Given the description of an element on the screen output the (x, y) to click on. 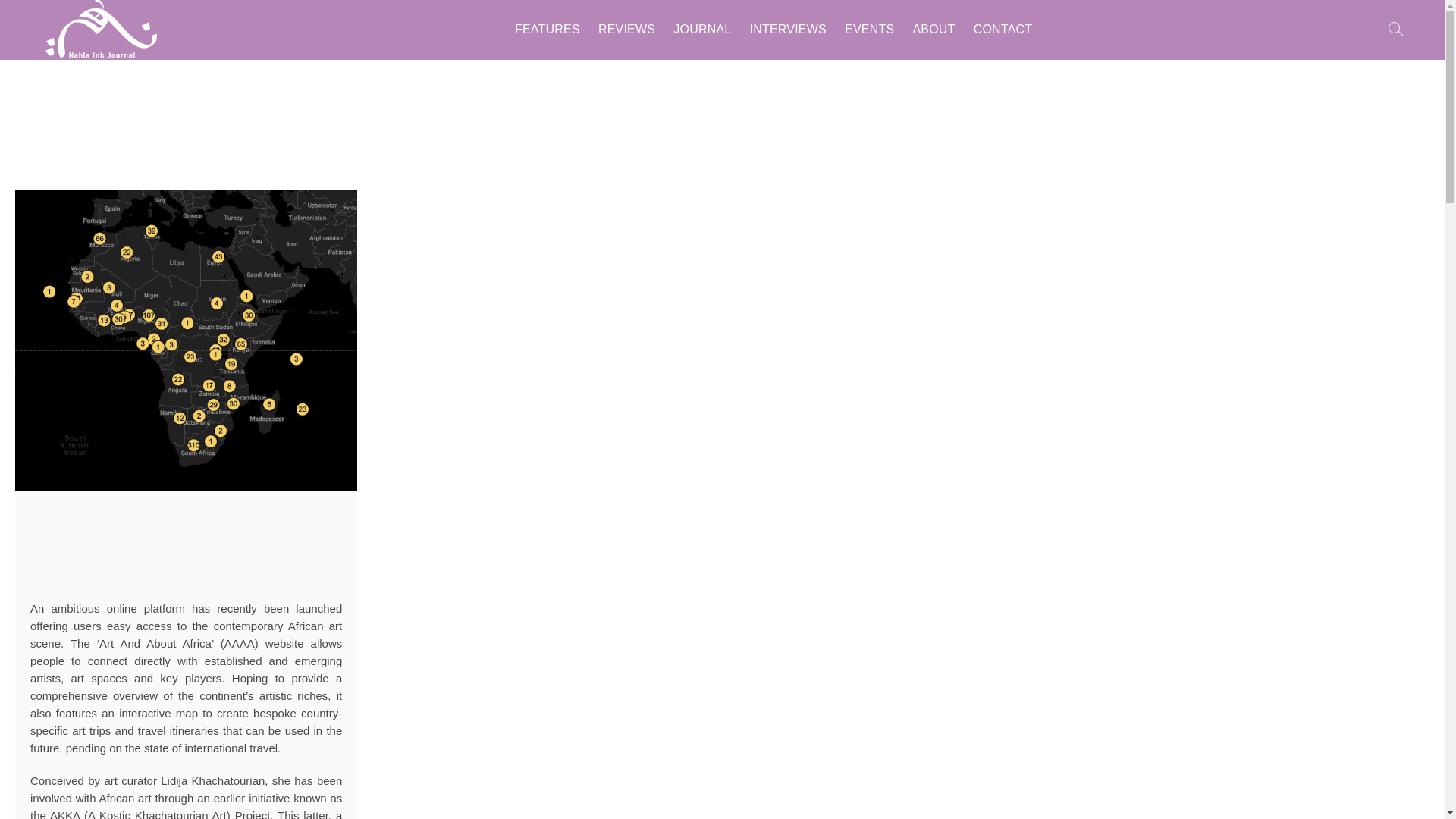
Nahla Ink Online Journal (306, 24)
FEATURES (547, 29)
EVENTS (869, 29)
JOURNAL (701, 29)
ABOUT (933, 29)
Nahla Ink Online Journal (306, 24)
INTERVIEWS (788, 29)
CONTACT (1003, 29)
REVIEWS (626, 29)
